Given the description of an element on the screen output the (x, y) to click on. 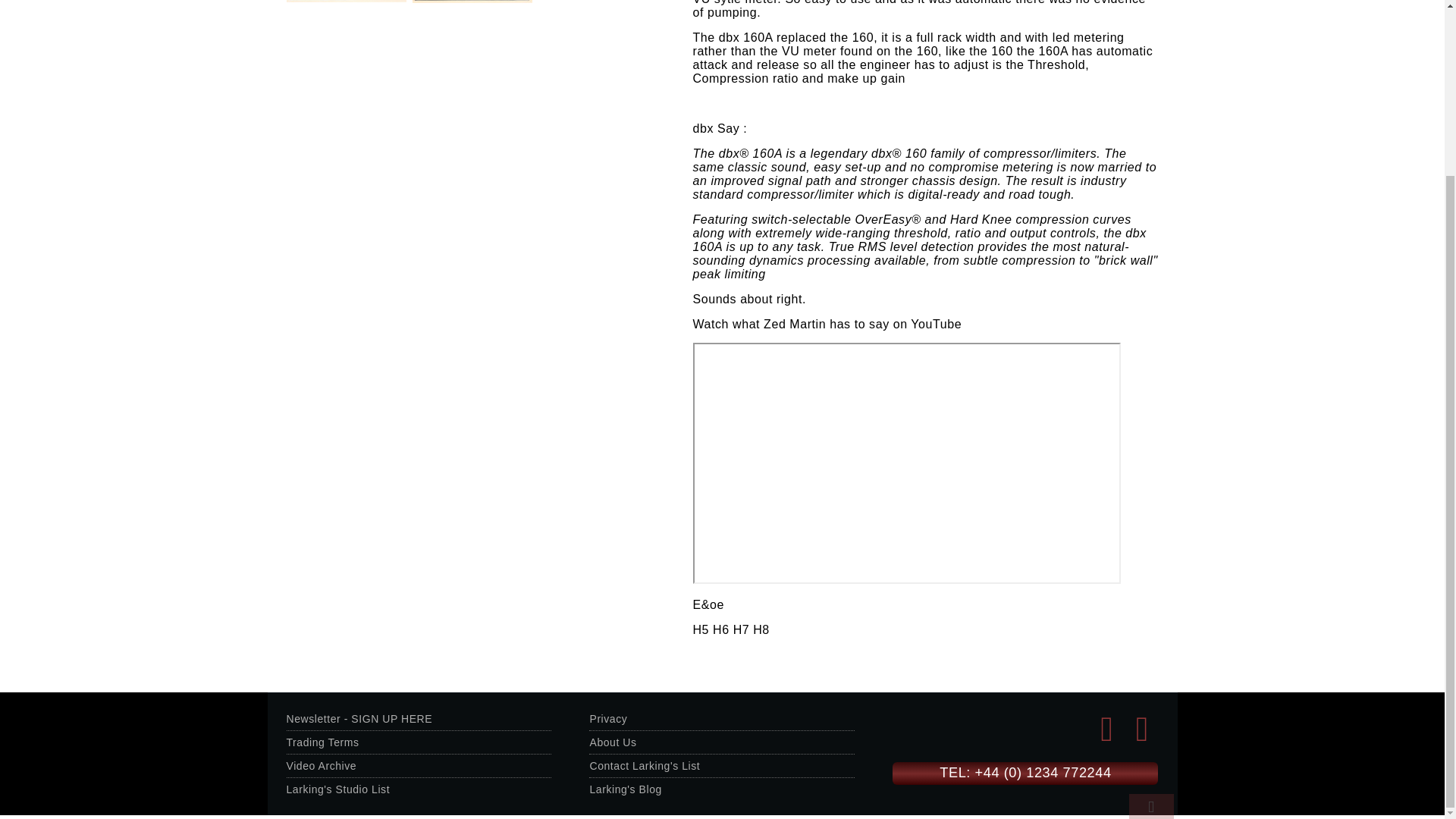
Larking's Studio List (338, 788)
Larking's Studio List (338, 788)
About Us (612, 742)
Contact Larking's List (644, 766)
Larking's List Newsletter (359, 718)
Contact Larking's List (644, 766)
Video Archive (321, 766)
Trading Terms (322, 742)
Privacy (608, 718)
Larking's Blog (625, 788)
About Us (612, 742)
Larking's Trading Terms (322, 742)
Larking's Video Archive (321, 766)
Larking's Blog (625, 788)
Newsletter - SIGN UP HERE (359, 718)
